Given the description of an element on the screen output the (x, y) to click on. 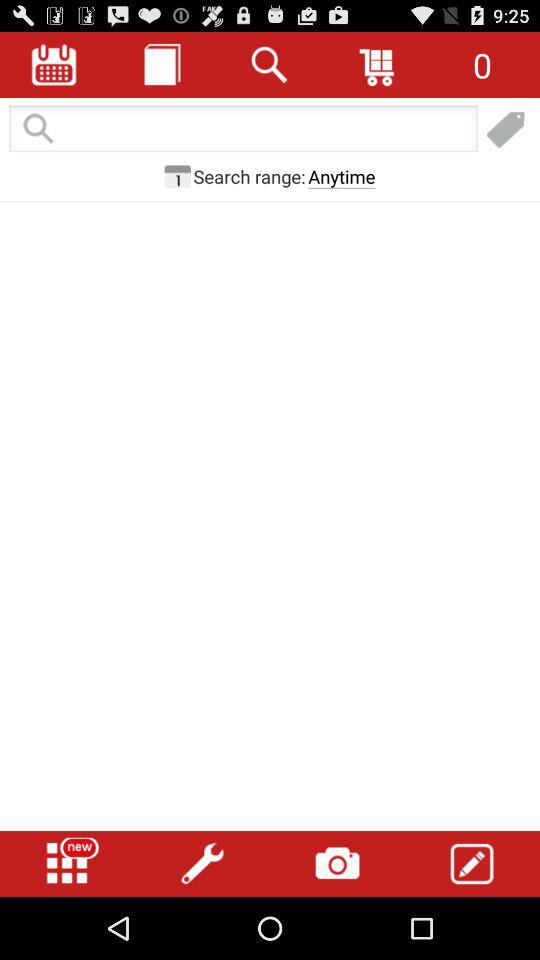
search (270, 64)
